Given the description of an element on the screen output the (x, y) to click on. 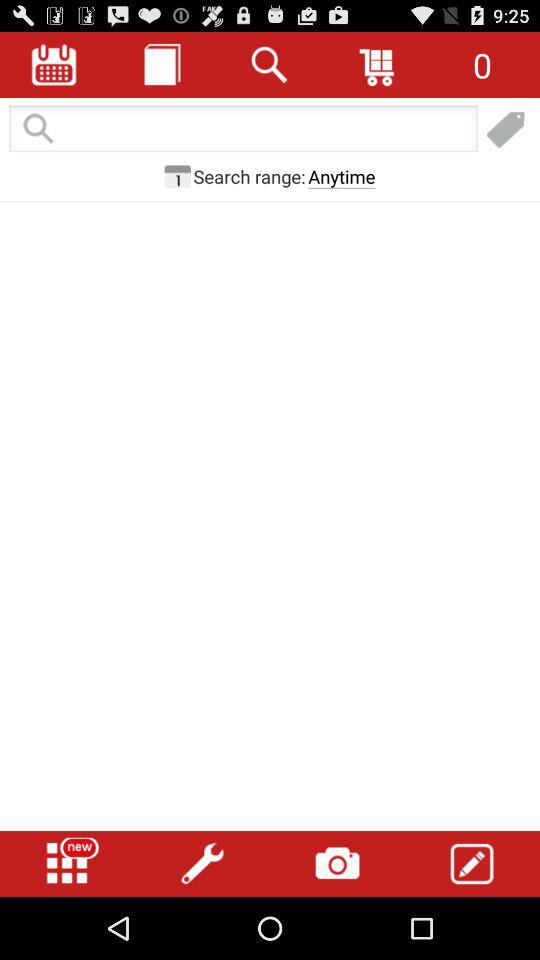
search (270, 64)
